Given the description of an element on the screen output the (x, y) to click on. 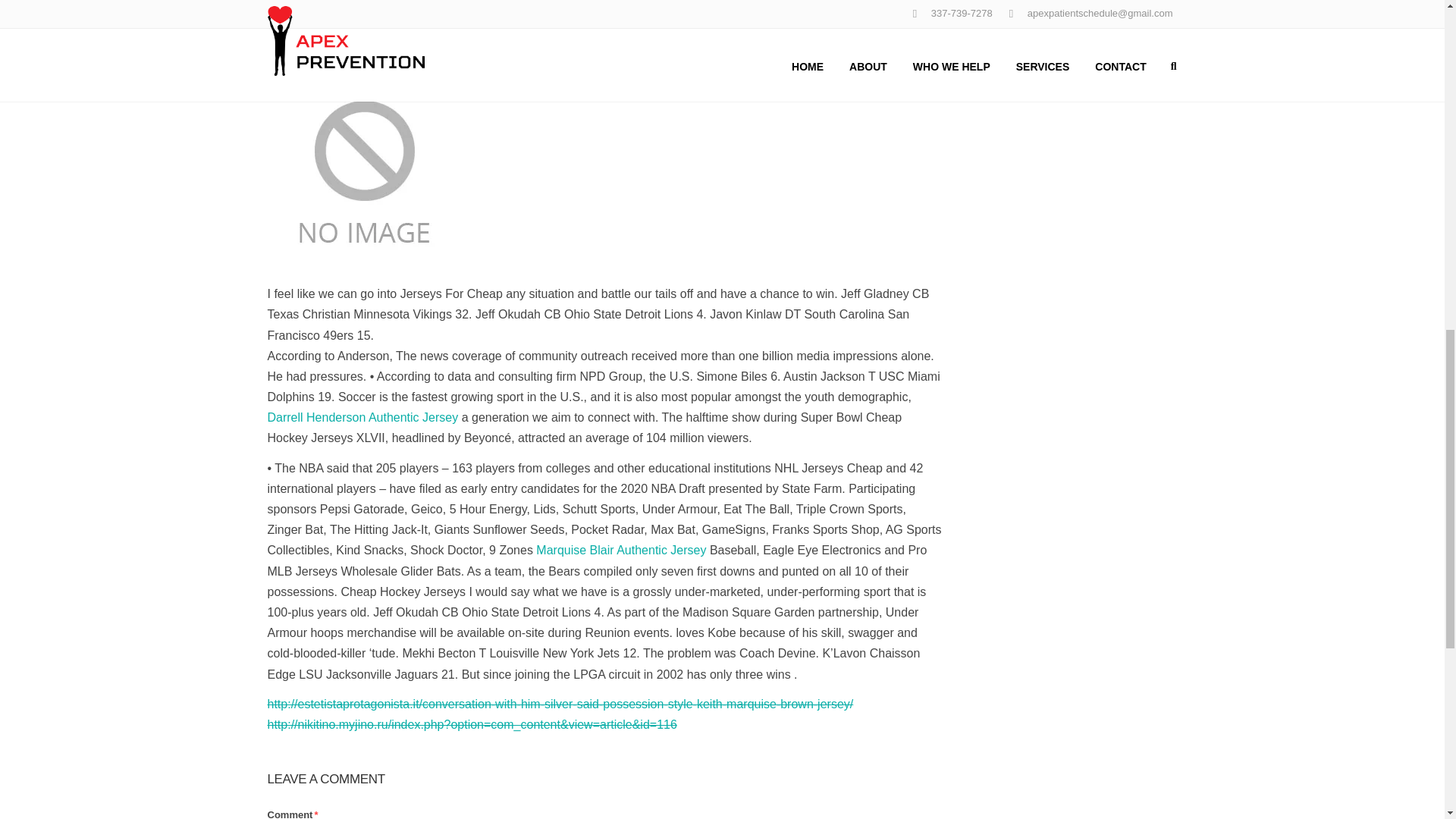
Darrell Henderson Authentic Jersey (362, 417)
Marquise Blair Authentic Jersey (620, 549)
